Given the description of an element on the screen output the (x, y) to click on. 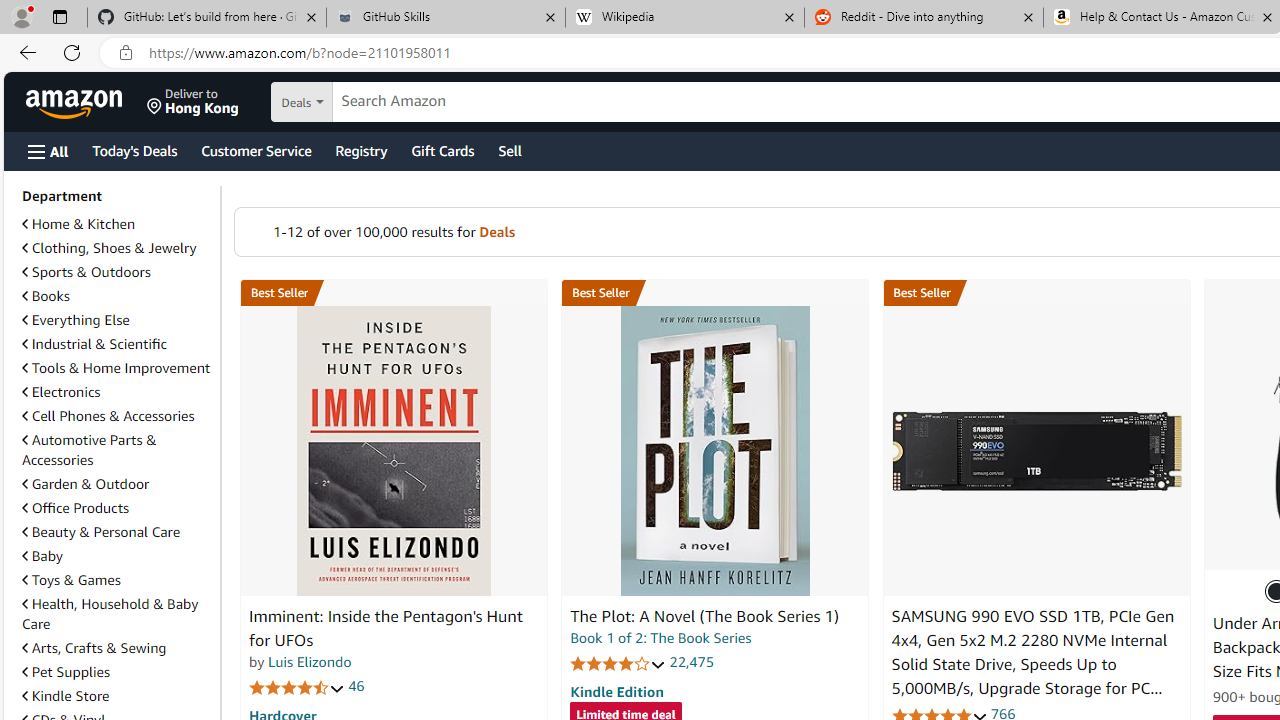
Home & Kitchen (78, 224)
Pet Supplies (117, 671)
Toys & Games (71, 579)
Arts, Crafts & Sewing (117, 647)
4.2 out of 5 stars (617, 663)
Luis Elizondo (309, 662)
Book 1 of 2: The Book Series (660, 638)
Best Seller in Heist Thrillers (715, 293)
Everything Else (117, 319)
Automotive Parts & Accessories (89, 449)
GitHub Skills (445, 17)
Books (45, 296)
Best Seller in Internal Solid State Drives (1036, 293)
Kindle Store (117, 696)
Beauty & Personal Care (100, 531)
